Given the description of an element on the screen output the (x, y) to click on. 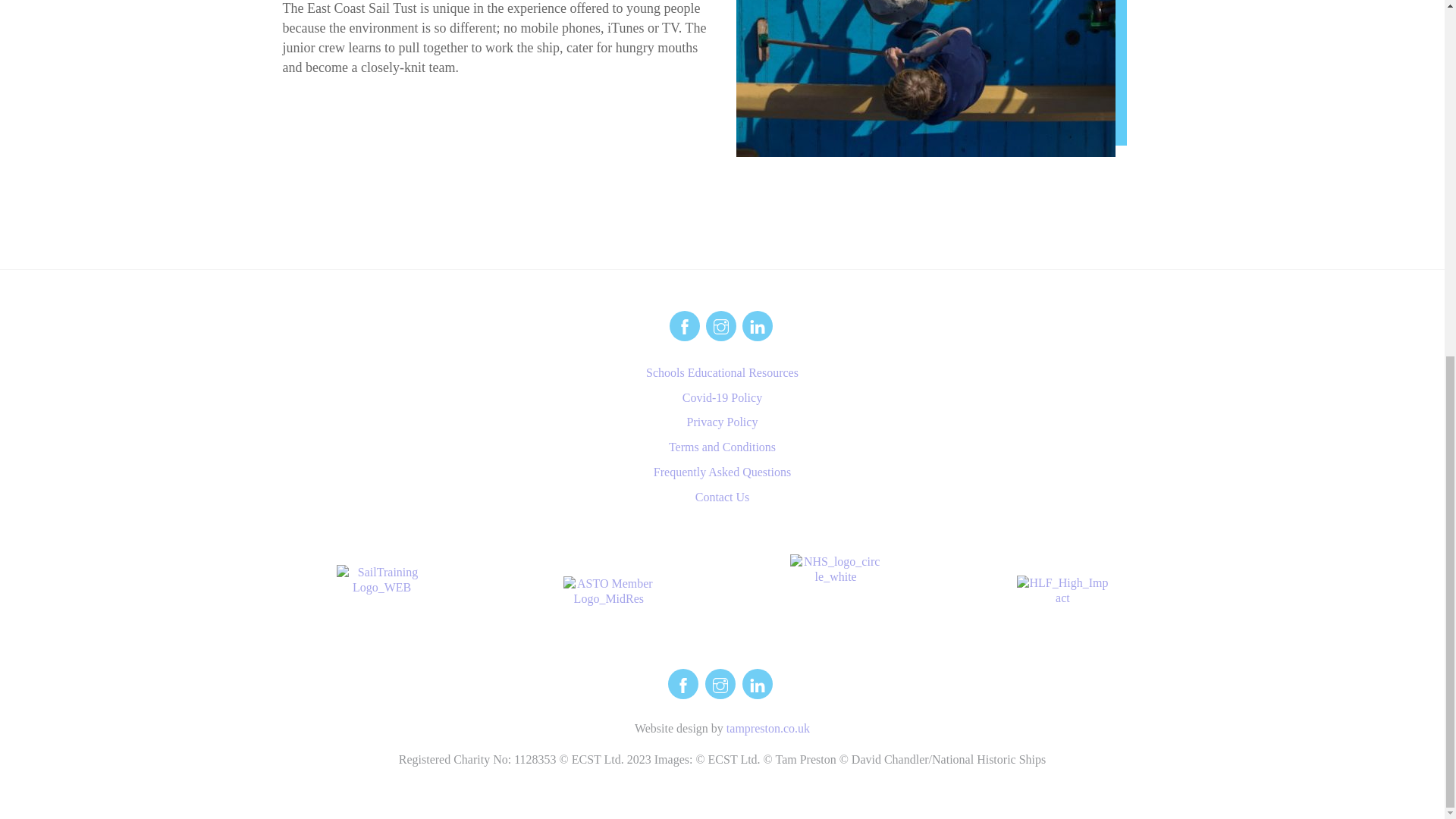
Scrubbing the decks (925, 78)
Covid-19 Policy (721, 397)
Schools Educational Resources (721, 372)
Terms and Conditions (722, 446)
Frequently Asked Questions (721, 472)
Contact Us (722, 496)
Privacy Policy (722, 421)
